Given the description of an element on the screen output the (x, y) to click on. 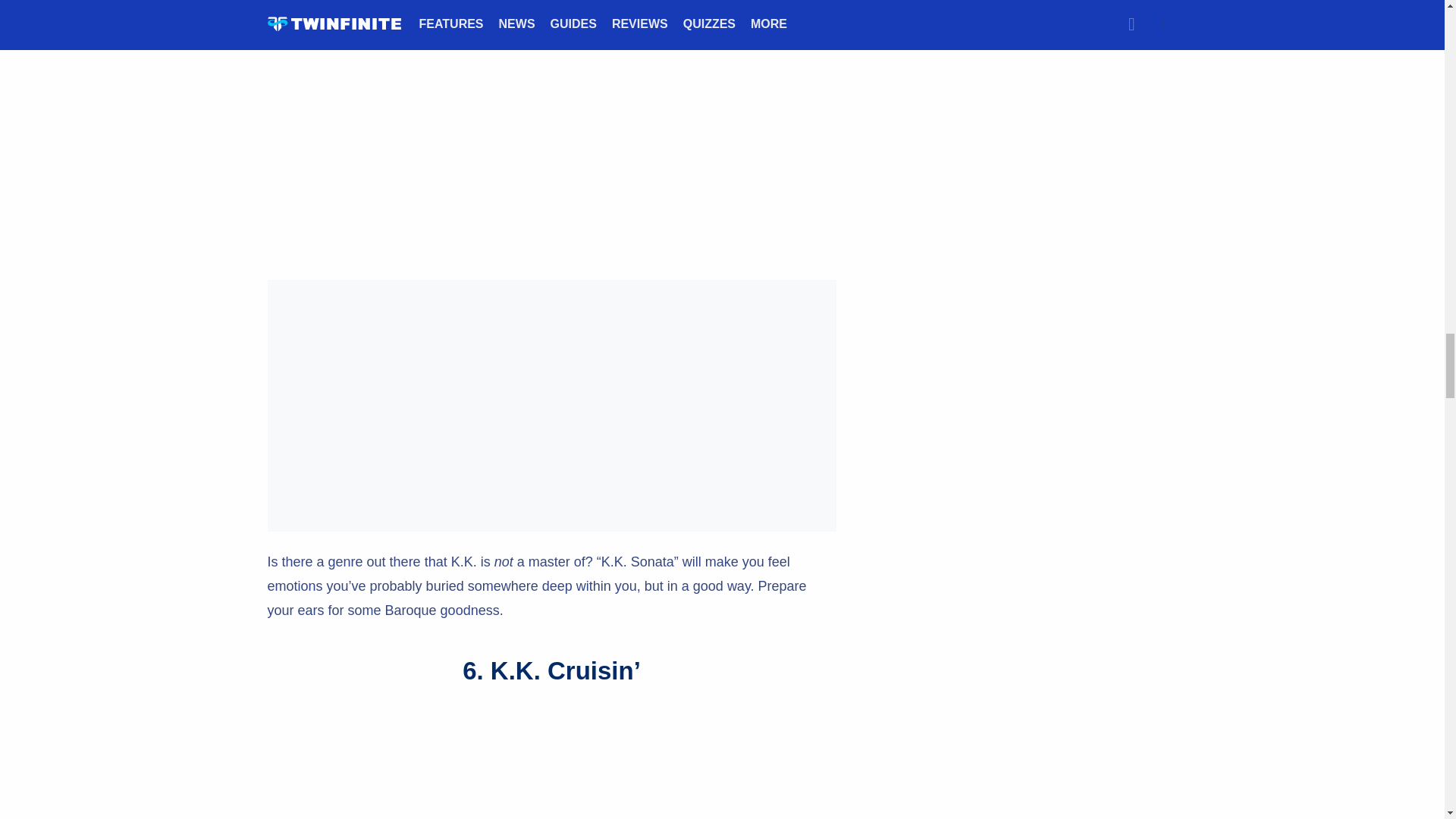
K.K. Cruisin' - K.K. Slider (550, 762)
